Given the description of an element on the screen output the (x, y) to click on. 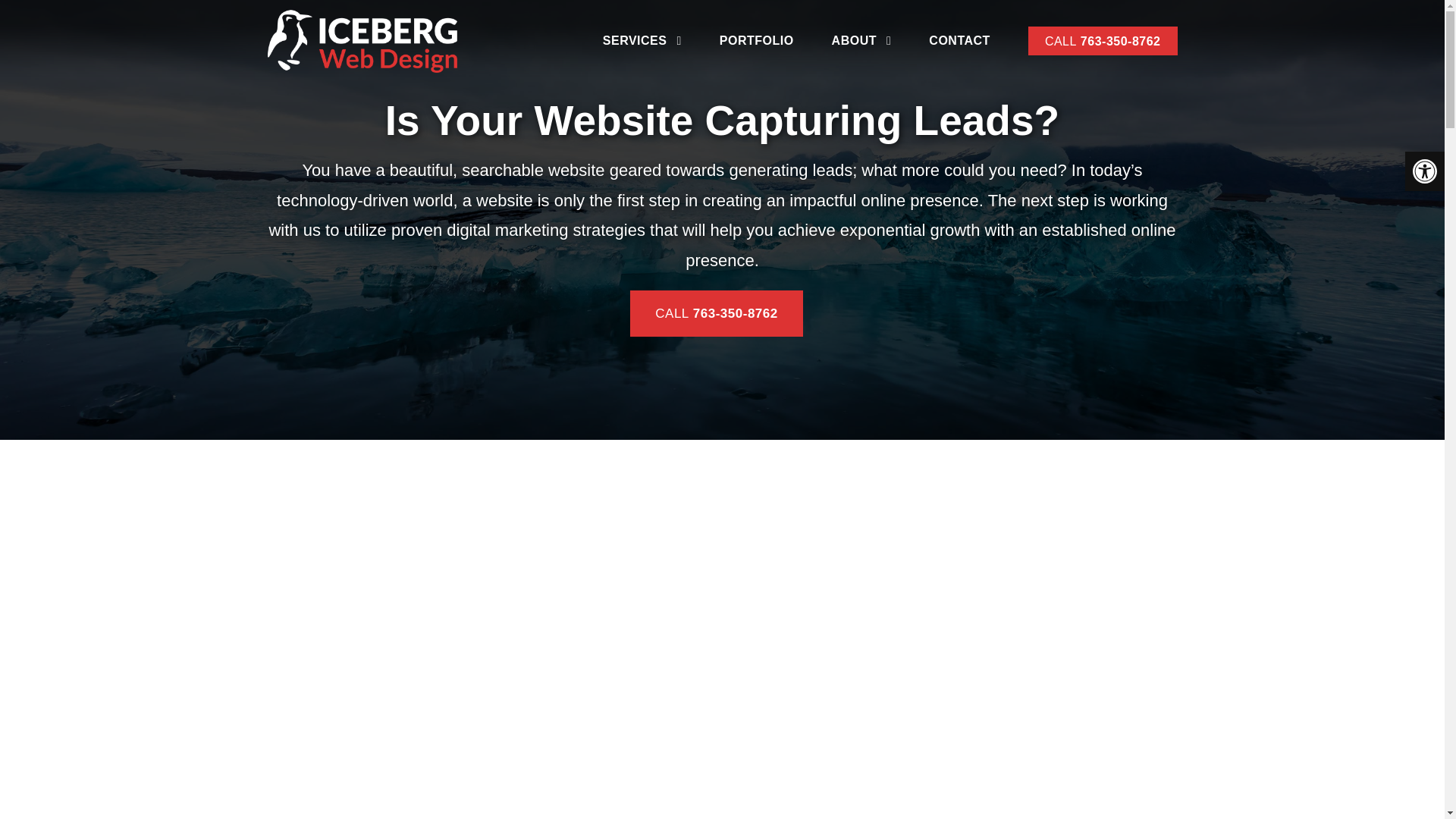
Icebergwebdesign (361, 40)
SERVICES (641, 44)
Accessibility Tools (1424, 170)
